Given the description of an element on the screen output the (x, y) to click on. 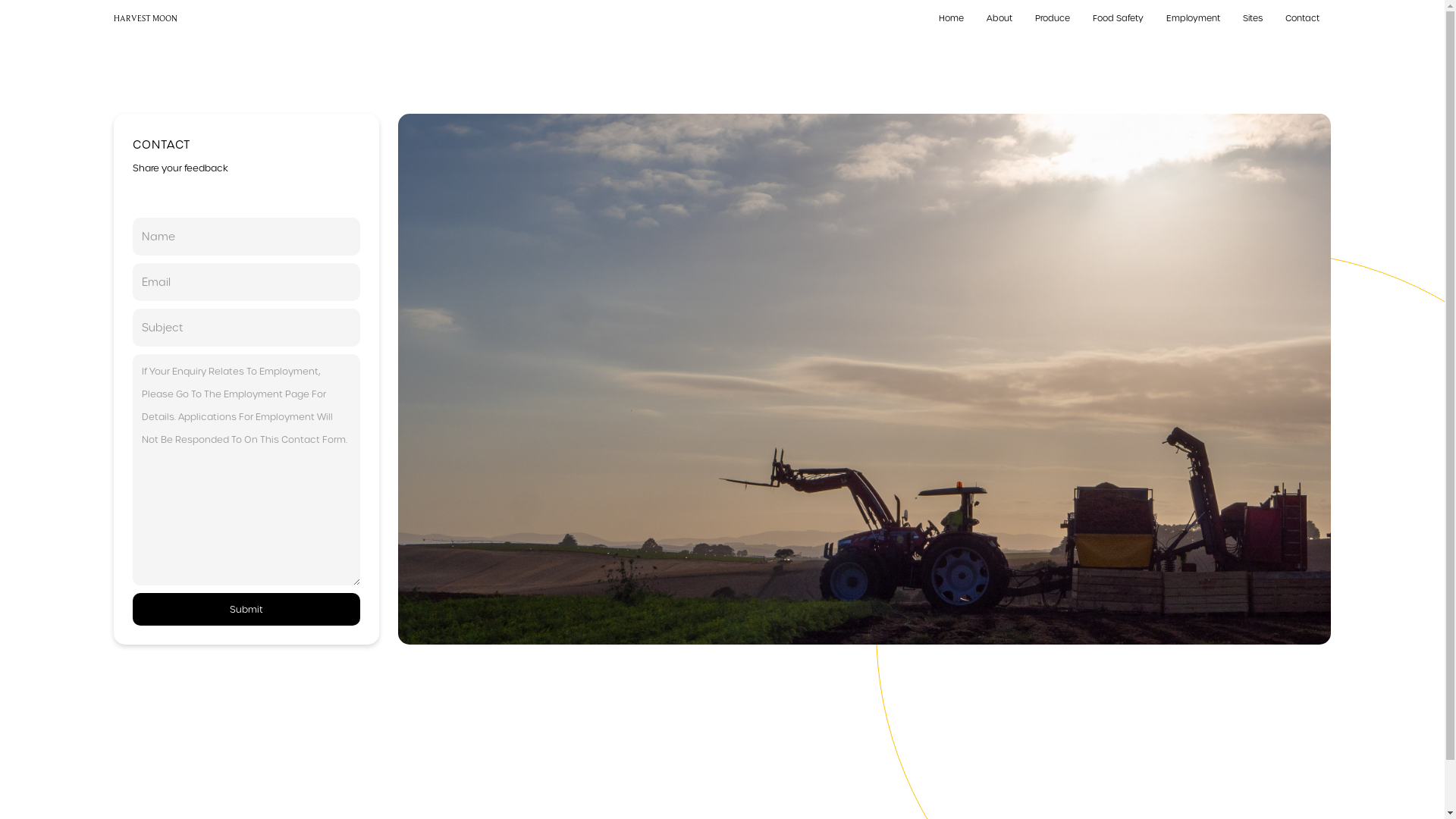
HARVEST MOON Element type: text (145, 18)
Submit Element type: text (246, 609)
Employment Element type: text (1192, 18)
Contact Element type: text (1302, 18)
Food Safety Element type: text (1117, 18)
Home Element type: text (951, 18)
Sites Element type: text (1252, 18)
About Element type: text (999, 18)
Produce Element type: text (1052, 18)
